Given the description of an element on the screen output the (x, y) to click on. 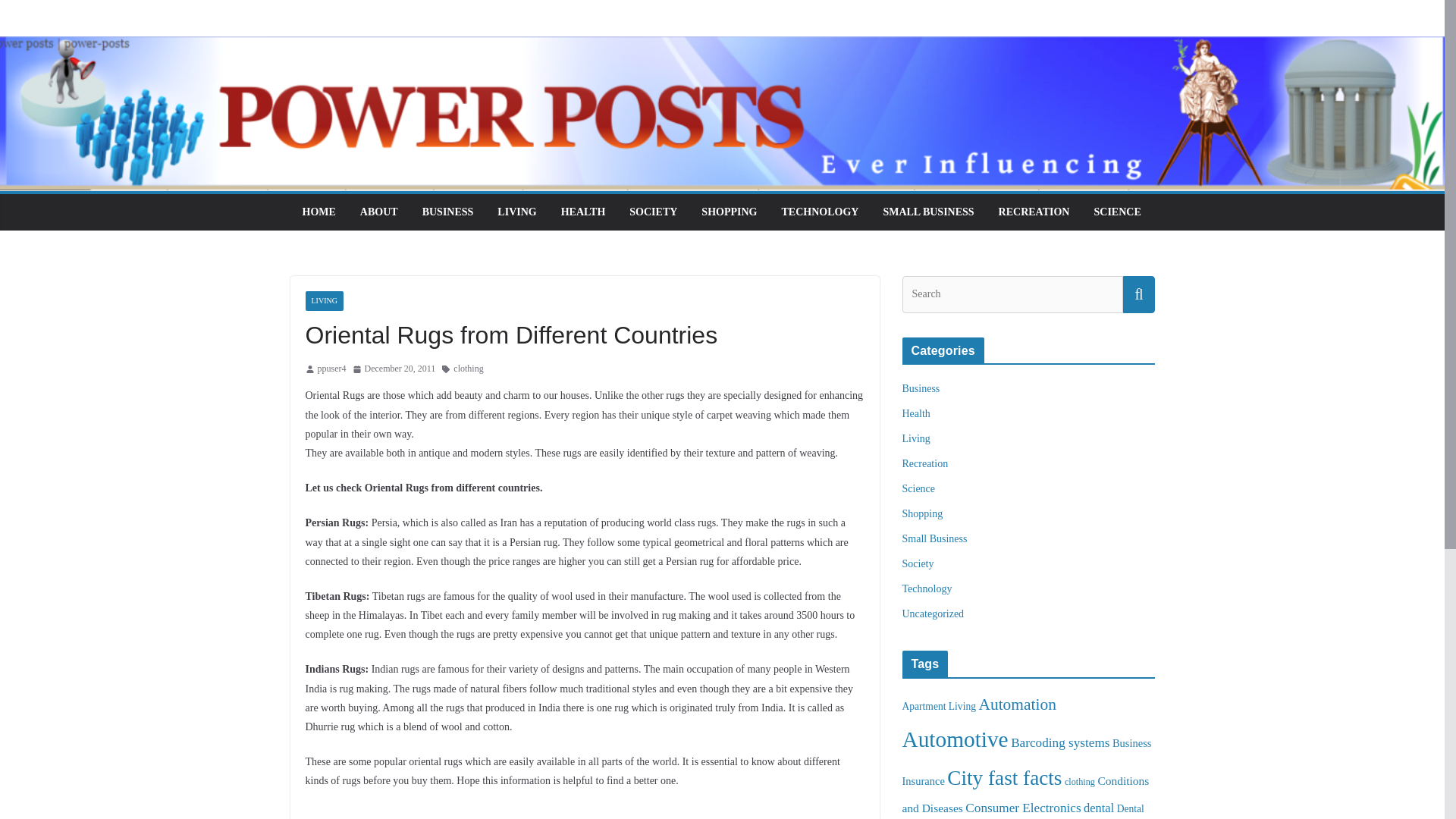
SHOPPING (729, 211)
City fast facts (1004, 777)
Shopping (922, 513)
BUSINESS (448, 211)
Society (918, 563)
Recreation (925, 463)
RECREATION (1034, 211)
ppuser4 (331, 369)
Barcoding systems (1059, 742)
Consumer Electronics (1022, 807)
